Given the description of an element on the screen output the (x, y) to click on. 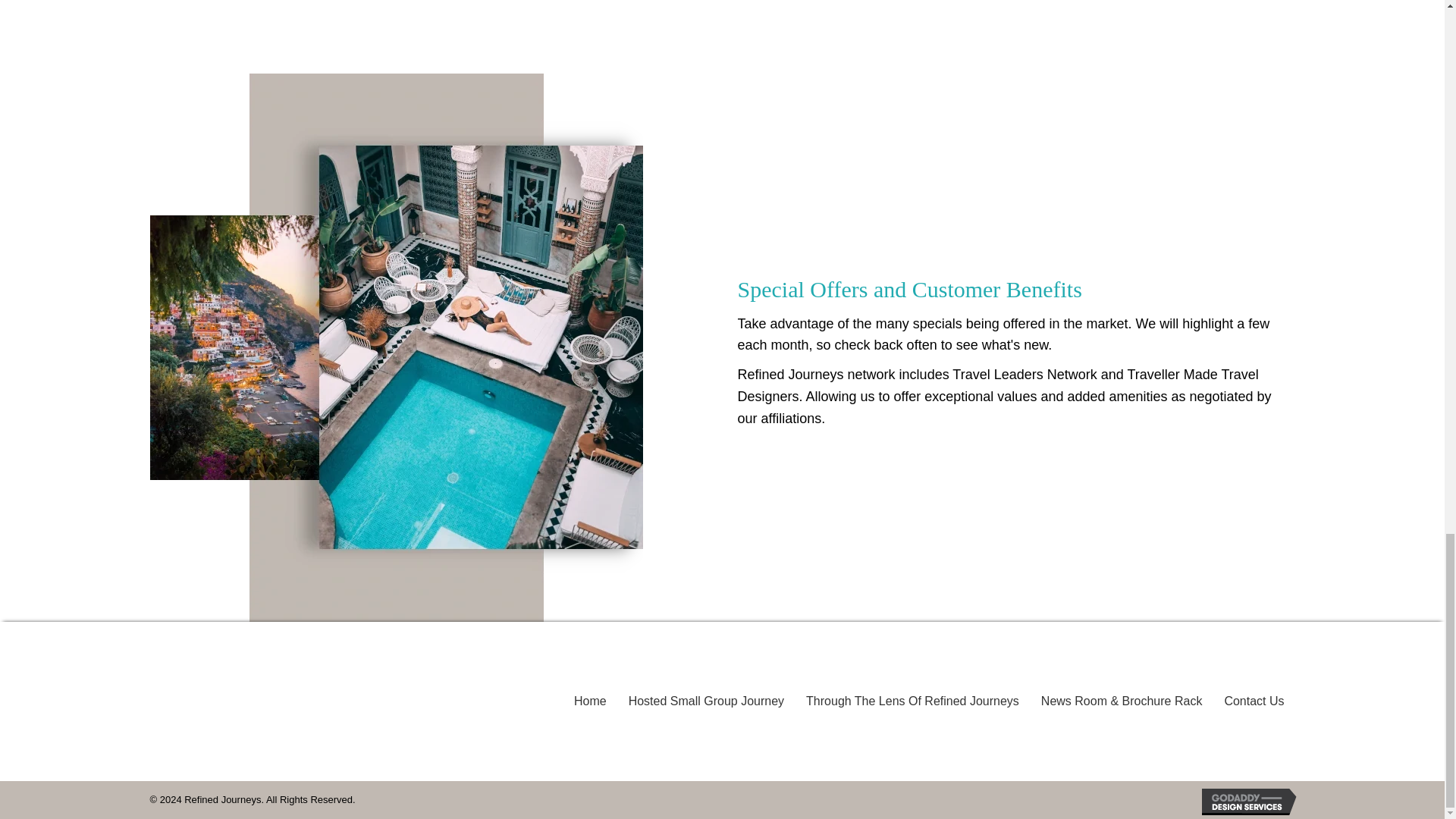
14d904f2b6e53bcf9e07e5656711836a (214, 701)
